Given the description of an element on the screen output the (x, y) to click on. 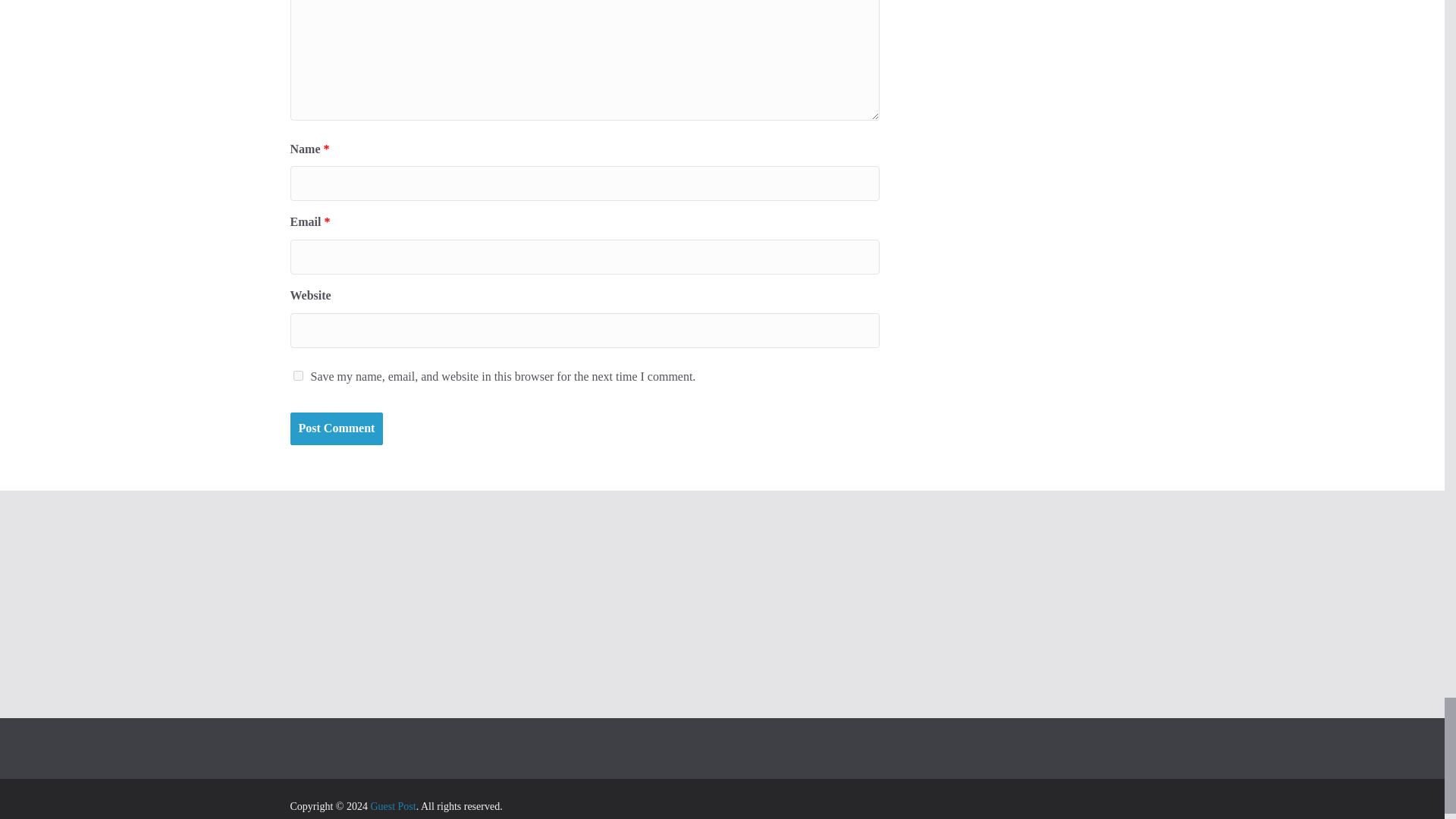
Post Comment (335, 428)
yes (297, 375)
Post Comment (335, 428)
